Given the description of an element on the screen output the (x, y) to click on. 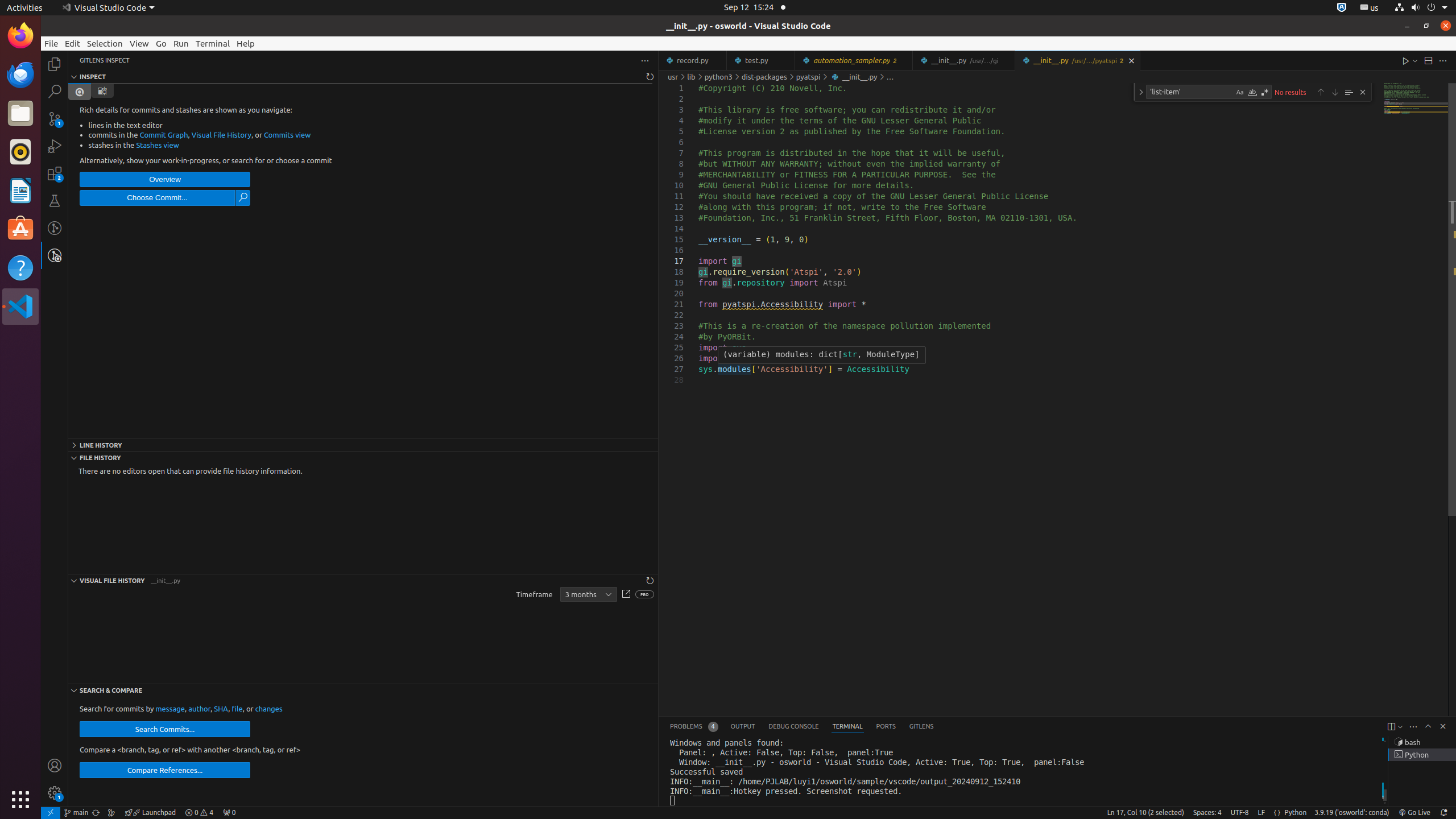
Overview Element type: push-button (164, 179)
Go Element type: push-button (161, 43)
Testing Element type: page-tab (54, 200)
 Element type: push-button (242, 198)
3.9.19 ('osworld': conda), ~/anaconda3/envs/osworld/bin/python Element type: push-button (1351, 812)
